Given the description of an element on the screen output the (x, y) to click on. 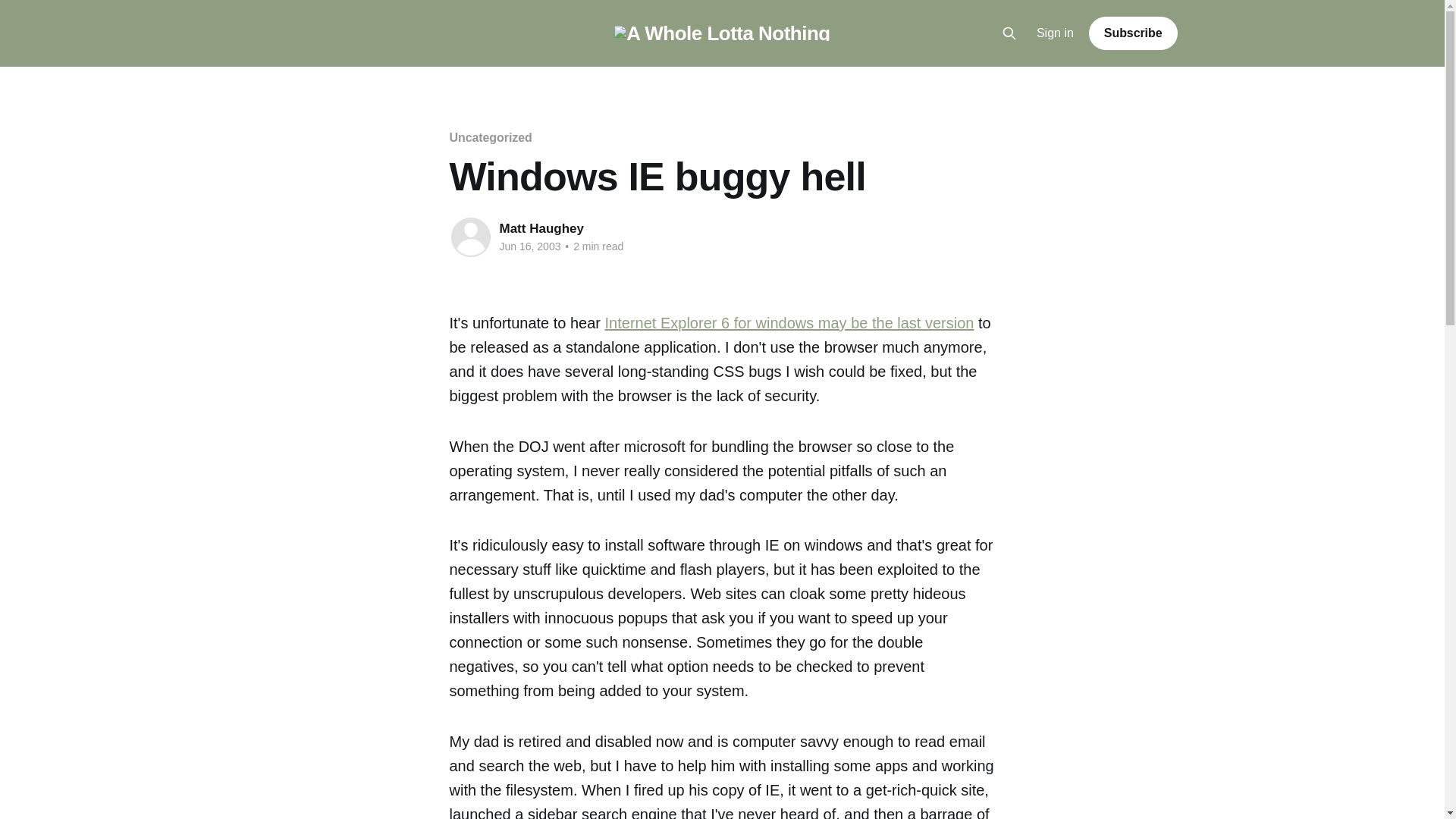
Internet Explorer 6 for windows may be the last version (789, 322)
Subscribe (1133, 32)
Sign in (1055, 33)
Uncategorized (489, 137)
Matt Haughey (541, 228)
